Given the description of an element on the screen output the (x, y) to click on. 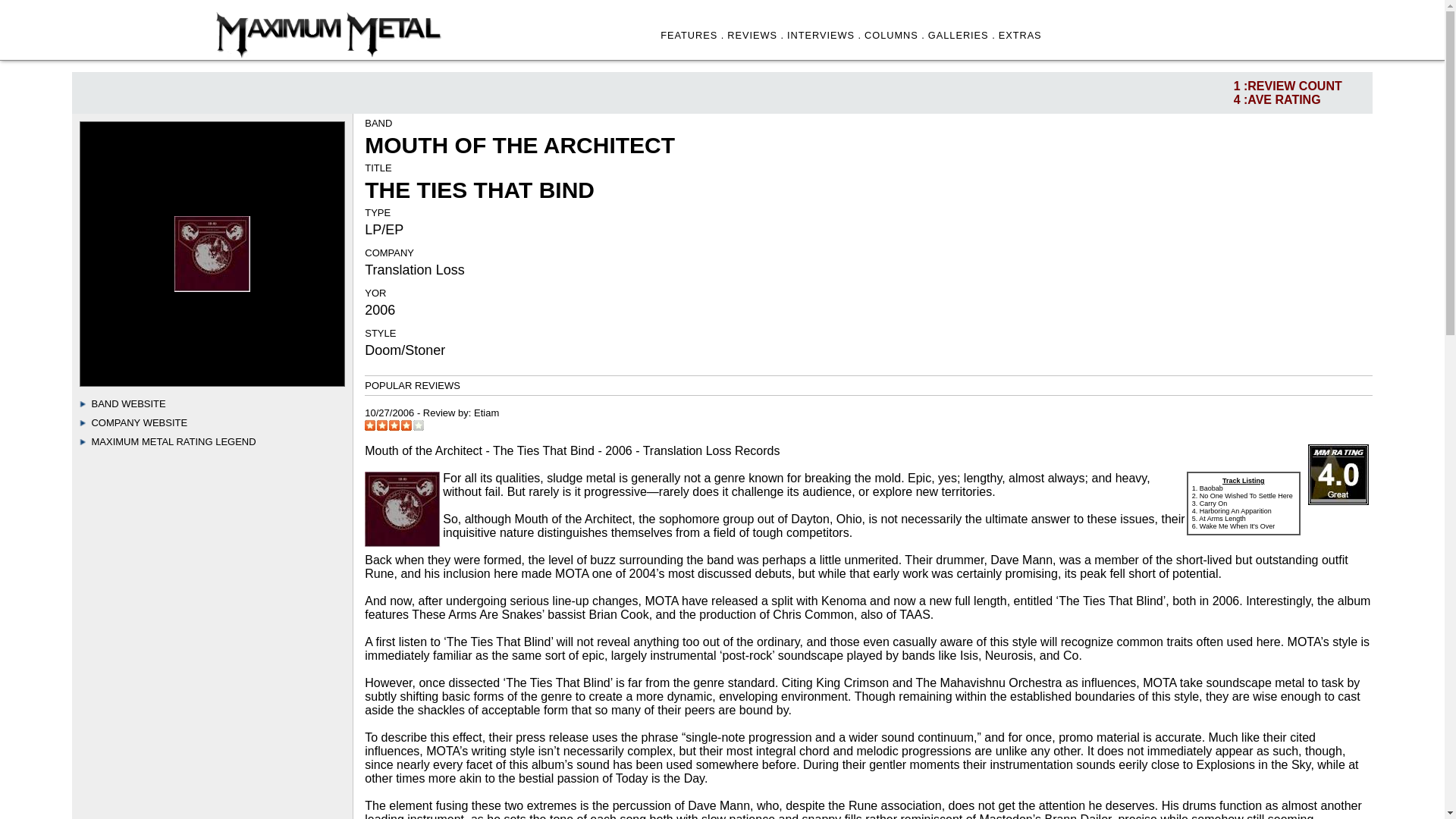
COLUMNS . (894, 34)
FEATURES . (692, 34)
REVIEWS . (755, 34)
GALLERIES . (961, 34)
COMPANY WEBSITE (138, 422)
INTERVIEWS . (824, 34)
EXTRAS (1020, 34)
Etiam (486, 412)
BAND WEBSITE (127, 403)
